Given the description of an element on the screen output the (x, y) to click on. 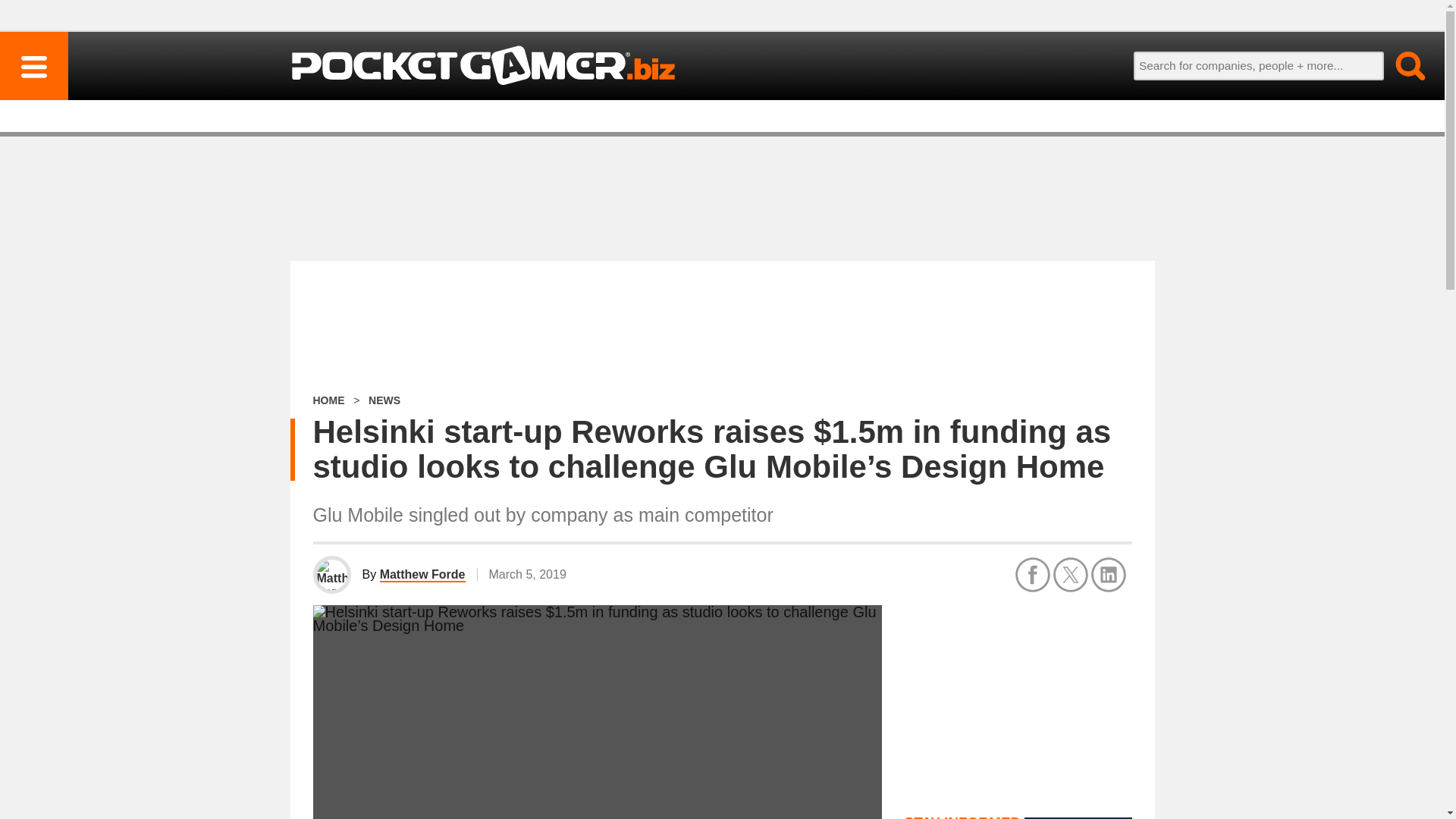
Matthew Forde (422, 575)
NEWS (384, 400)
Go (1402, 65)
Go (1402, 65)
HOME (328, 400)
